Given the description of an element on the screen output the (x, y) to click on. 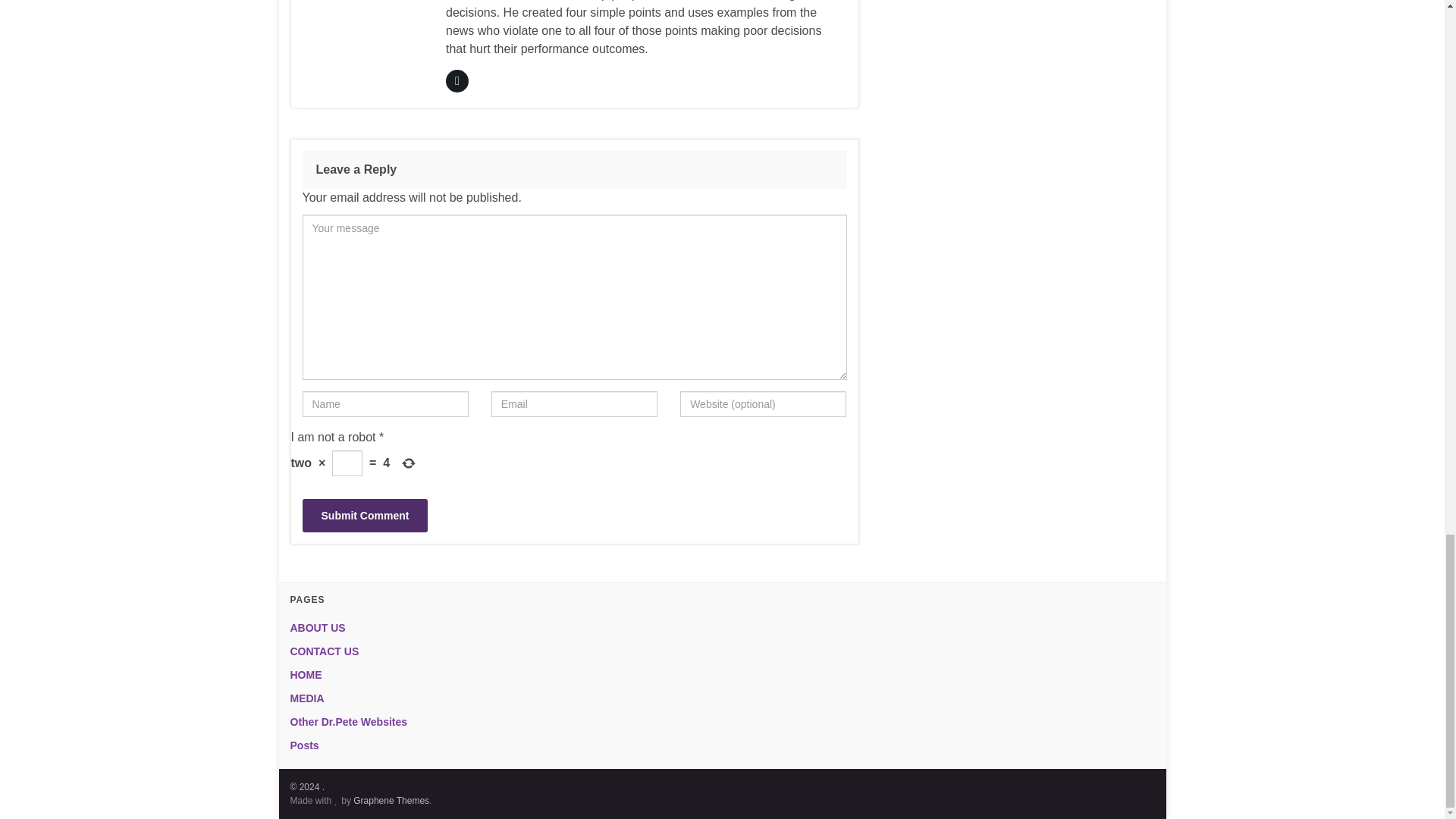
Other Dr.Pete Websites (348, 721)
Submit Comment (364, 515)
ABOUT US (317, 627)
MEDIA (306, 698)
Submit Comment (364, 515)
HOME (305, 674)
CONTACT US (323, 651)
